Given the description of an element on the screen output the (x, y) to click on. 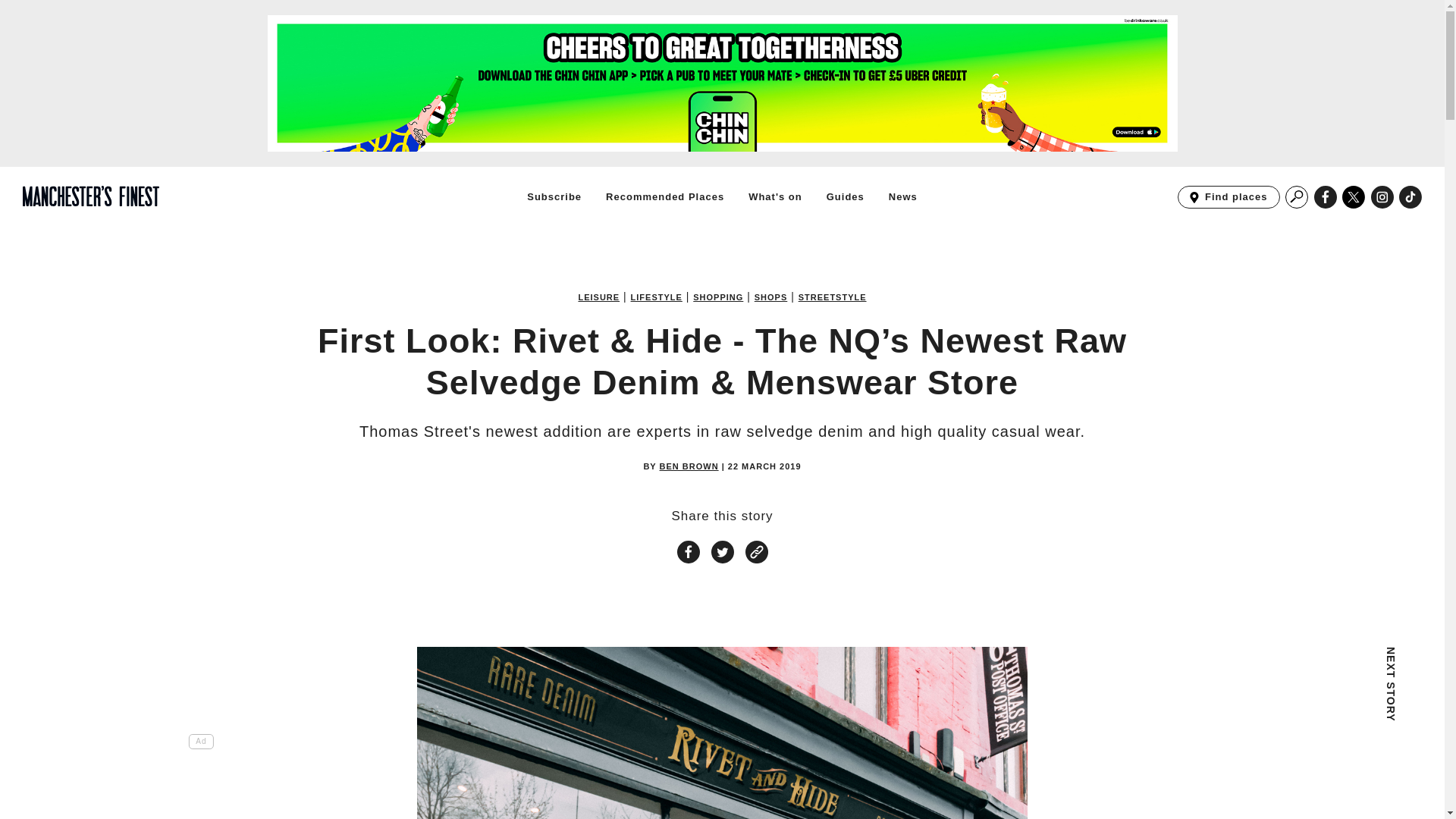
News (902, 196)
STREETSTYLE (831, 297)
Go to Manchester's Finest Facebook page (1325, 196)
BEN BROWN (689, 466)
Go to Manchester's Finest X profile (1353, 196)
SHOPPING (717, 297)
Go to Manchester's Finest Instagram profile (1382, 196)
Go to Manchester's Finest Instagram profile (1382, 196)
Go to Manchester's Finest TikTok profile (1410, 196)
LEISURE (599, 297)
LIFESTYLE (656, 297)
What's on (775, 196)
Go to Manchester's Finest TikTok profile (1410, 196)
Recommended Places (664, 196)
Search Manchester's Finest (1296, 196)
